Given the description of an element on the screen output the (x, y) to click on. 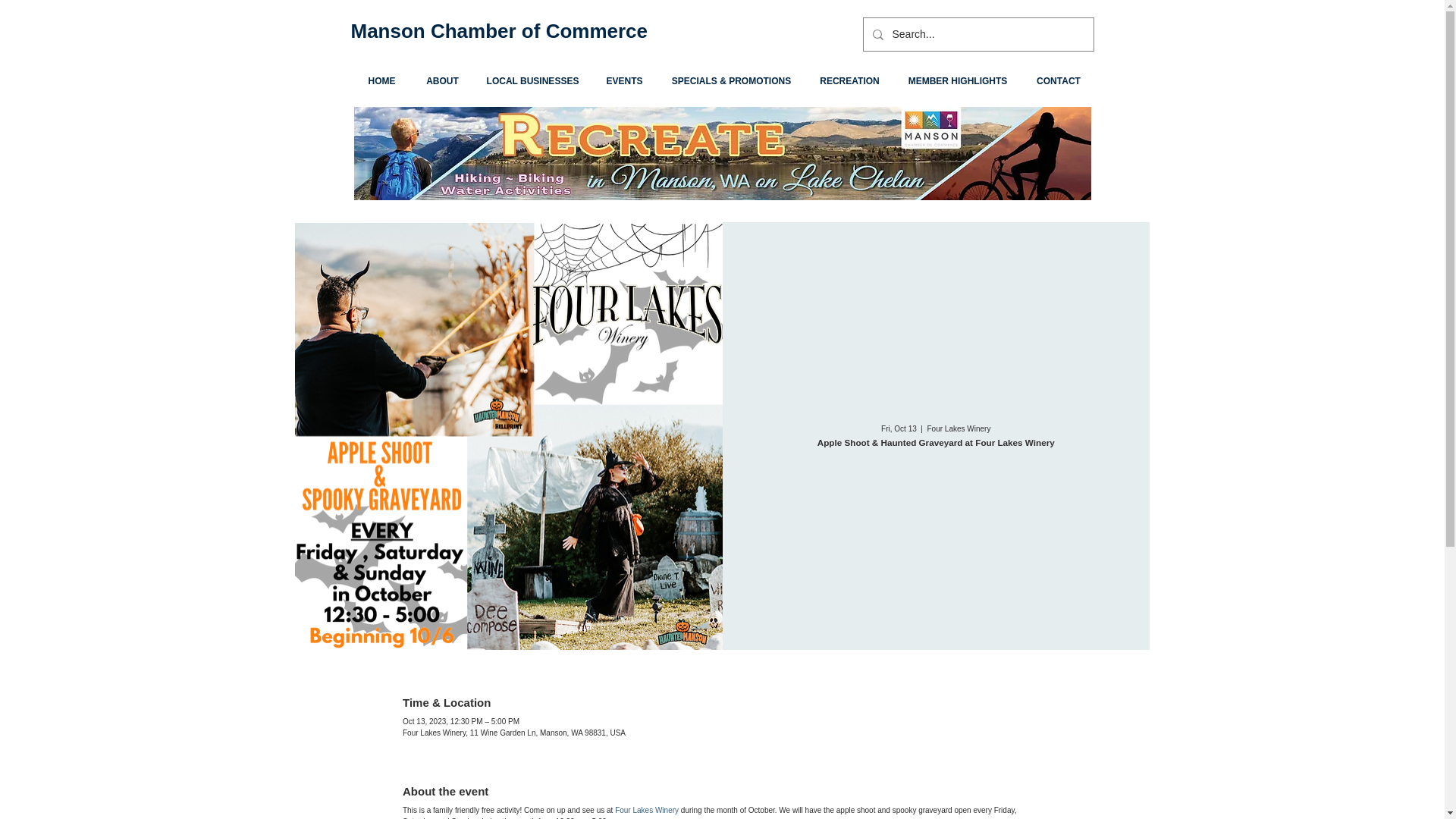
Four Lakes Winery (646, 809)
EVENTS (623, 81)
CONTACT (1059, 81)
MEMBER HIGHLIGHTS (957, 81)
HOME (381, 81)
Manson Chamber of Commerce (498, 30)
